Given the description of an element on the screen output the (x, y) to click on. 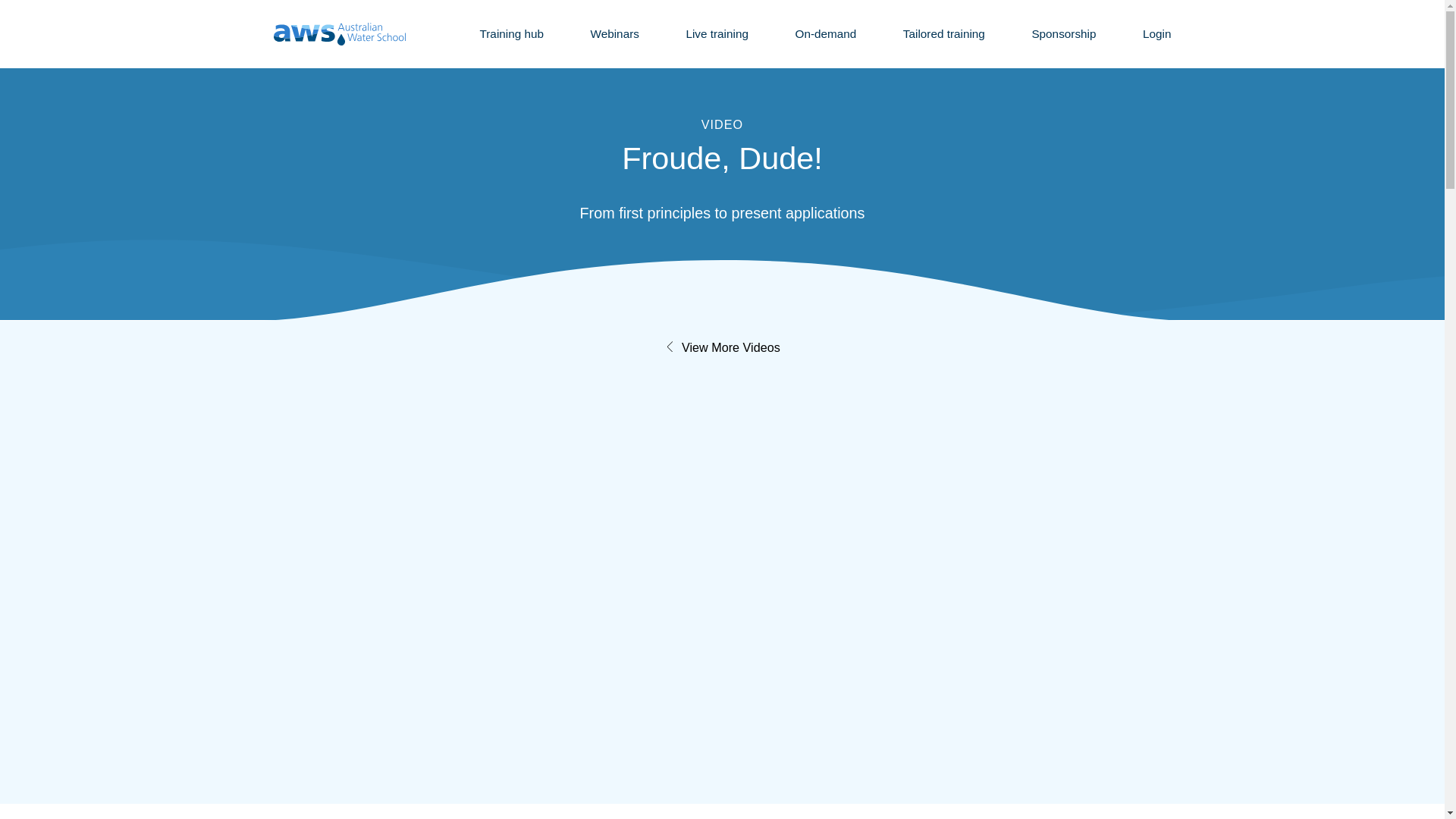
View More Videos (721, 348)
Live training (716, 33)
Tailored training (943, 33)
On-demand (825, 33)
Training hub (511, 33)
Sponsorship (1063, 33)
